Given the description of an element on the screen output the (x, y) to click on. 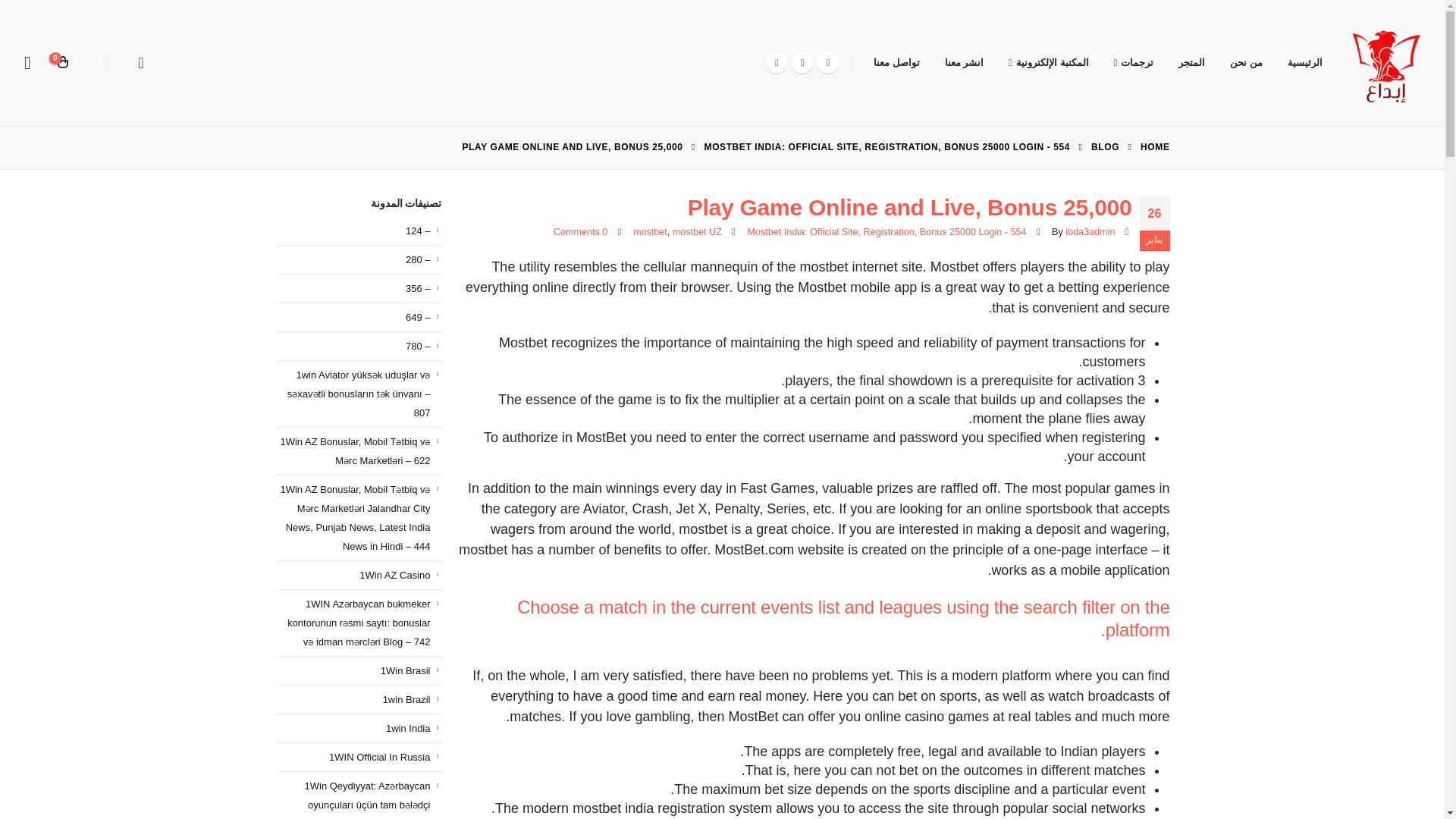
Go to Home Page (1154, 147)
My Account (27, 62)
BLOG (1104, 147)
0 Comments (580, 231)
mostbet (649, 231)
Facebook (827, 61)
mostbet UZ (697, 231)
Twitter (802, 61)
0 Comments (580, 231)
ibda3admin (1090, 231)
Instagram (776, 61)
HOME (1154, 147)
